Given the description of an element on the screen output the (x, y) to click on. 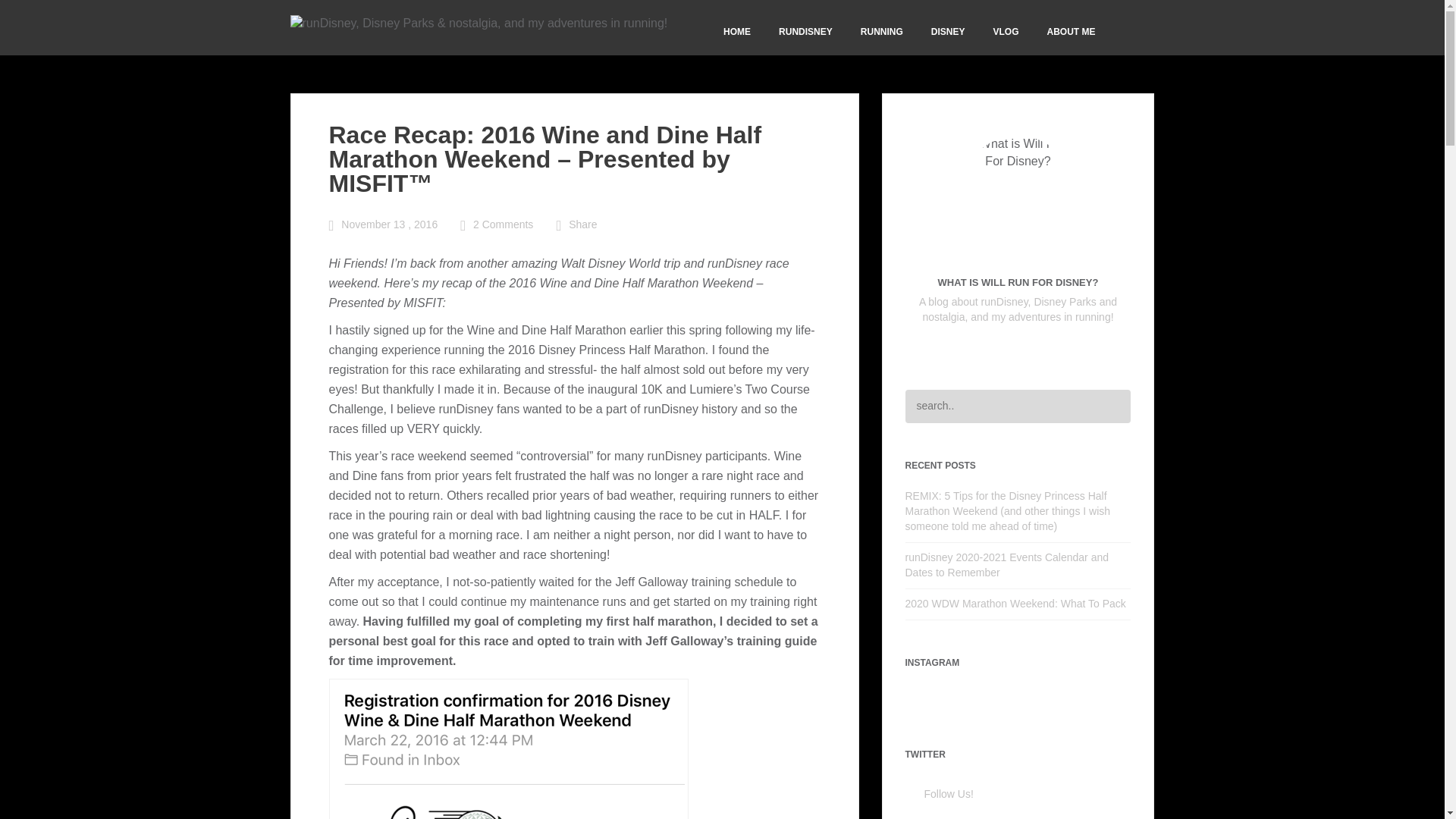
RUNDISNEY (805, 31)
Share (582, 224)
Follow Us! (947, 793)
RUNNING (881, 31)
DISNEY (948, 31)
runDisney 2020-2021 Events Calendar and Dates to Remember (1018, 565)
November 13 , 2016 (389, 224)
2020 WDW Marathon Weekend: What To Pack (1018, 604)
VLOG (1004, 31)
ABOUT ME (1070, 31)
